Given the description of an element on the screen output the (x, y) to click on. 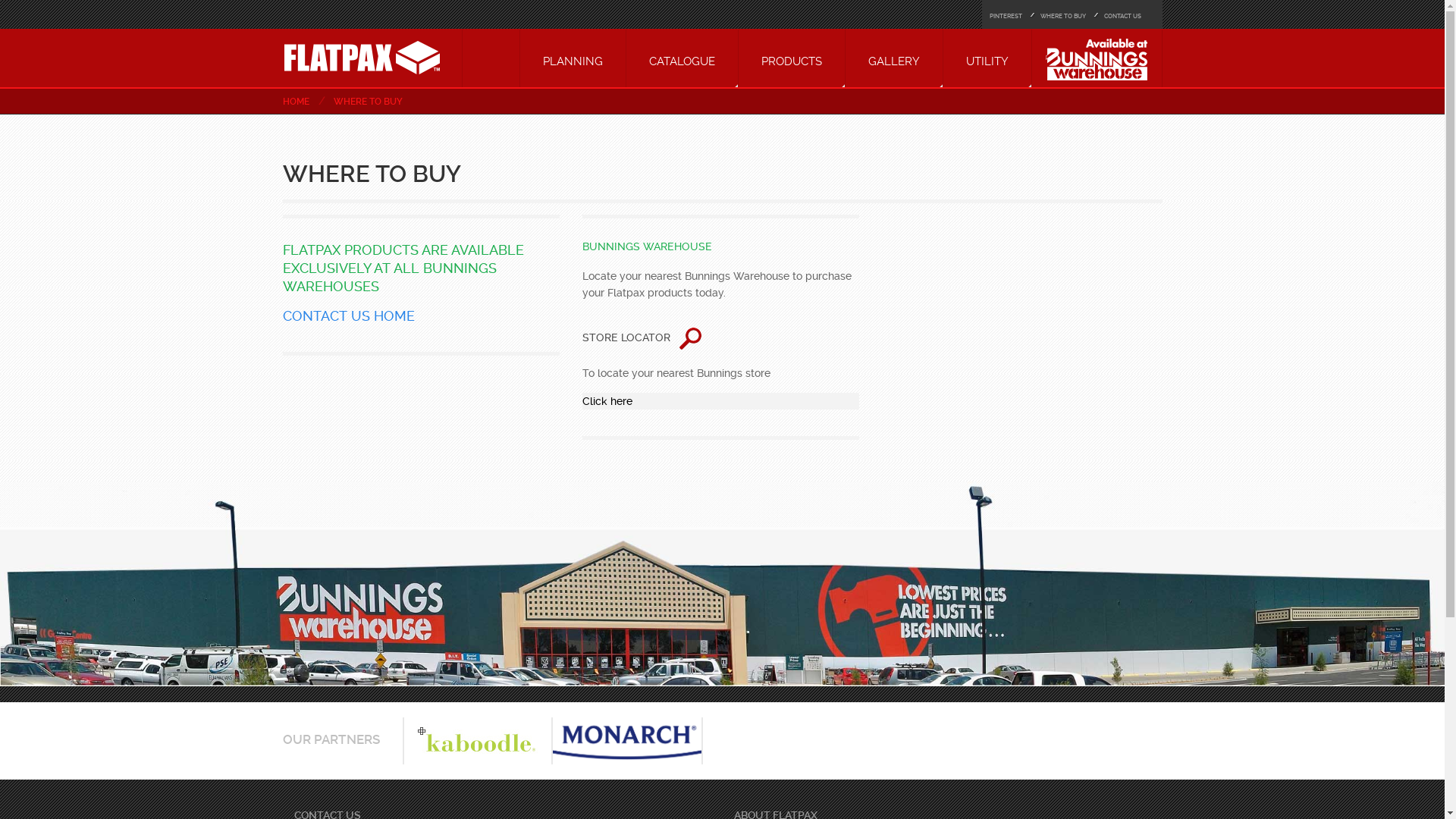
PRODUCTS Element type: text (791, 58)
CATALOGUE Element type: text (681, 58)
CONTACT US Element type: text (325, 315)
CONTACT US Element type: text (1122, 15)
HOME Element type: text (295, 101)
UTILITY Element type: text (987, 58)
STORE LOCATOR   Element type: text (641, 338)
GALLERY Element type: text (892, 58)
PINTEREST Element type: text (1004, 15)
WHERE TO BUY Element type: text (363, 101)
WHERE TO BUY Element type: text (1062, 15)
Click here Element type: text (720, 400)
HOME Element type: text (393, 315)
PLANNING Element type: text (572, 58)
